Given the description of an element on the screen output the (x, y) to click on. 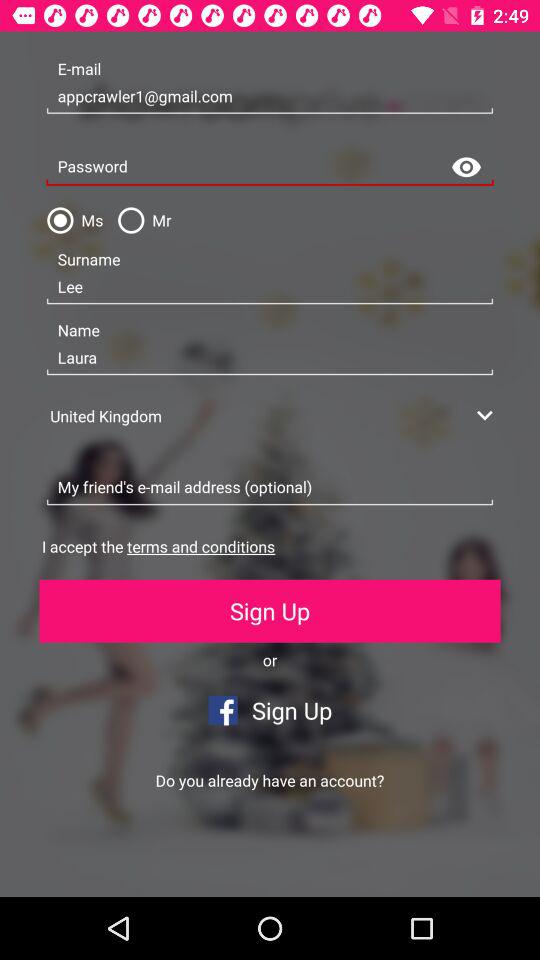
turn on the item at the bottom left corner (135, 864)
